Given the description of an element on the screen output the (x, y) to click on. 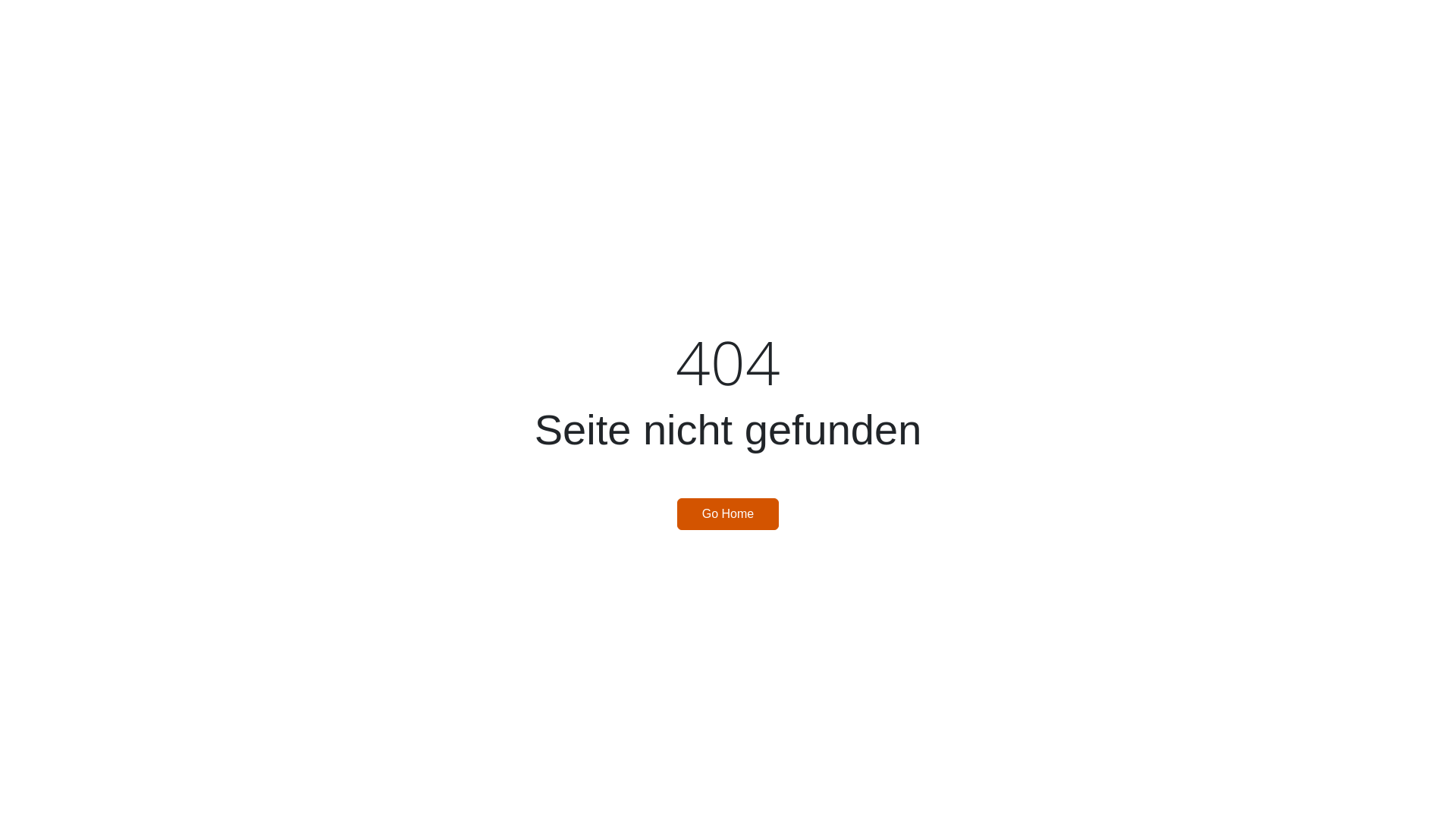
Go Home Element type: text (727, 514)
